Given the description of an element on the screen output the (x, y) to click on. 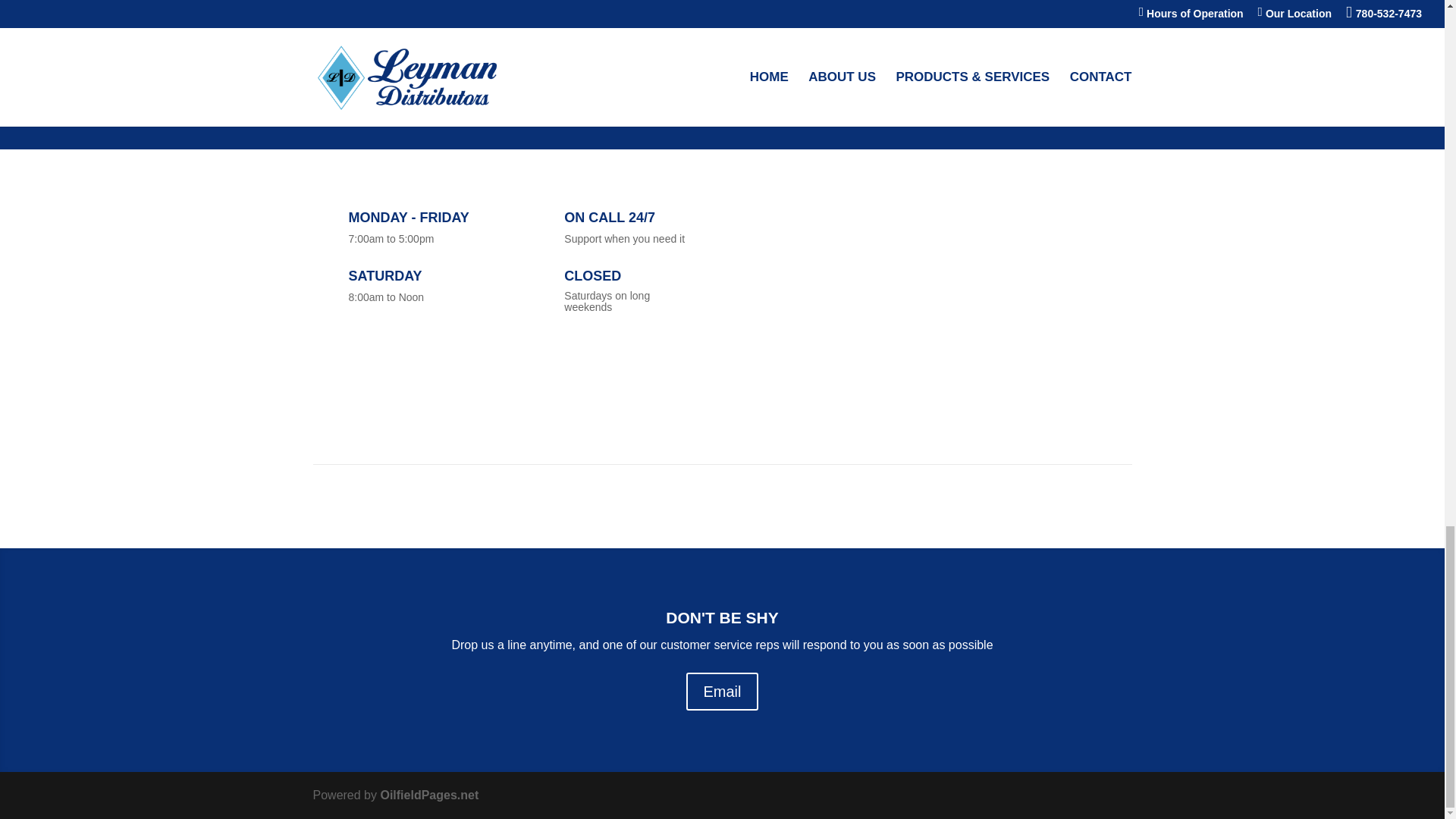
OilfieldPages.net (429, 794)
Email (721, 691)
